Given the description of an element on the screen output the (x, y) to click on. 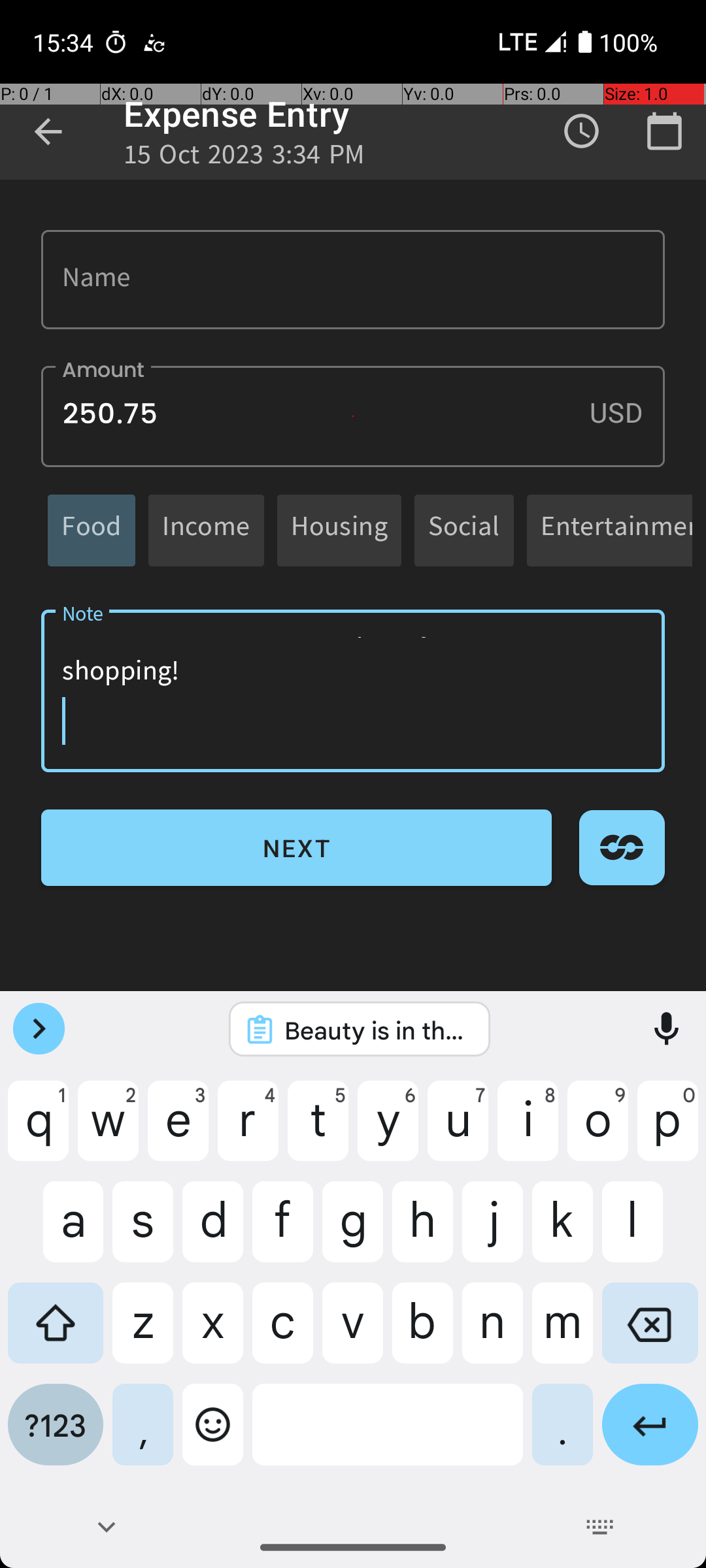
250.75 Element type: android.widget.EditText (352, 416)
Don't forget to buy groceries for the week!
Remember to check the pantry before shopping!
 Element type: android.widget.EditText (352, 690)
NEXT Element type: android.widget.Button (296, 847)
Beauty is in the eye of the beholder. Element type: android.widget.TextView (376, 1029)
